Given the description of an element on the screen output the (x, y) to click on. 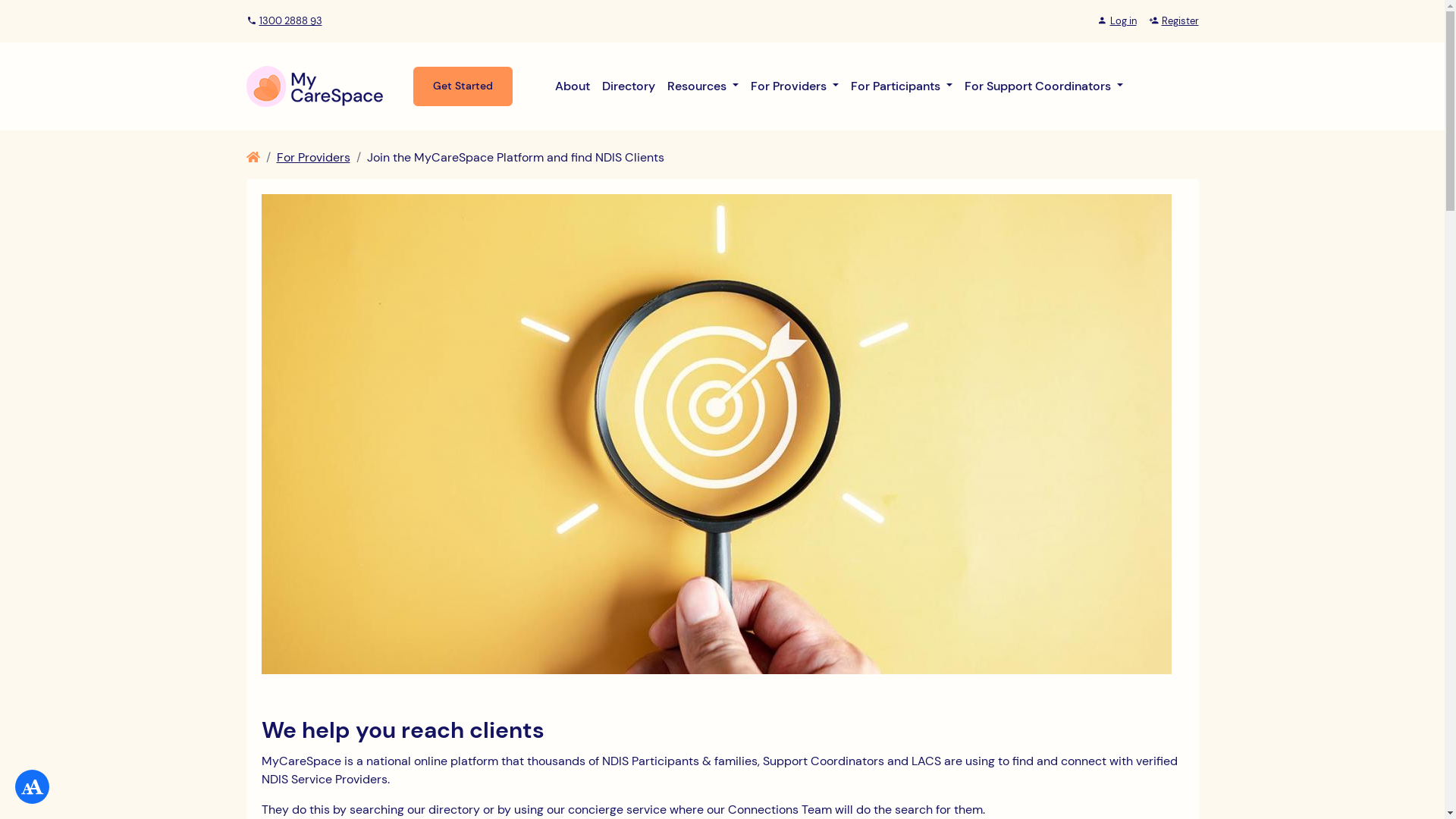
Log in Element type: text (1115, 20)
Skip to main content Element type: text (57, 0)
Get Started Element type: text (461, 86)
Directory Element type: text (628, 86)
About Element type: text (572, 86)
1300 2888 93 Element type: text (283, 20)
For Support Coordinators Element type: text (1043, 86)
Resources Element type: text (702, 86)
For Providers Element type: text (312, 156)
For Providers Element type: text (794, 86)
Register Element type: text (1173, 20)
For Participants Element type: text (901, 86)
